Given the description of an element on the screen output the (x, y) to click on. 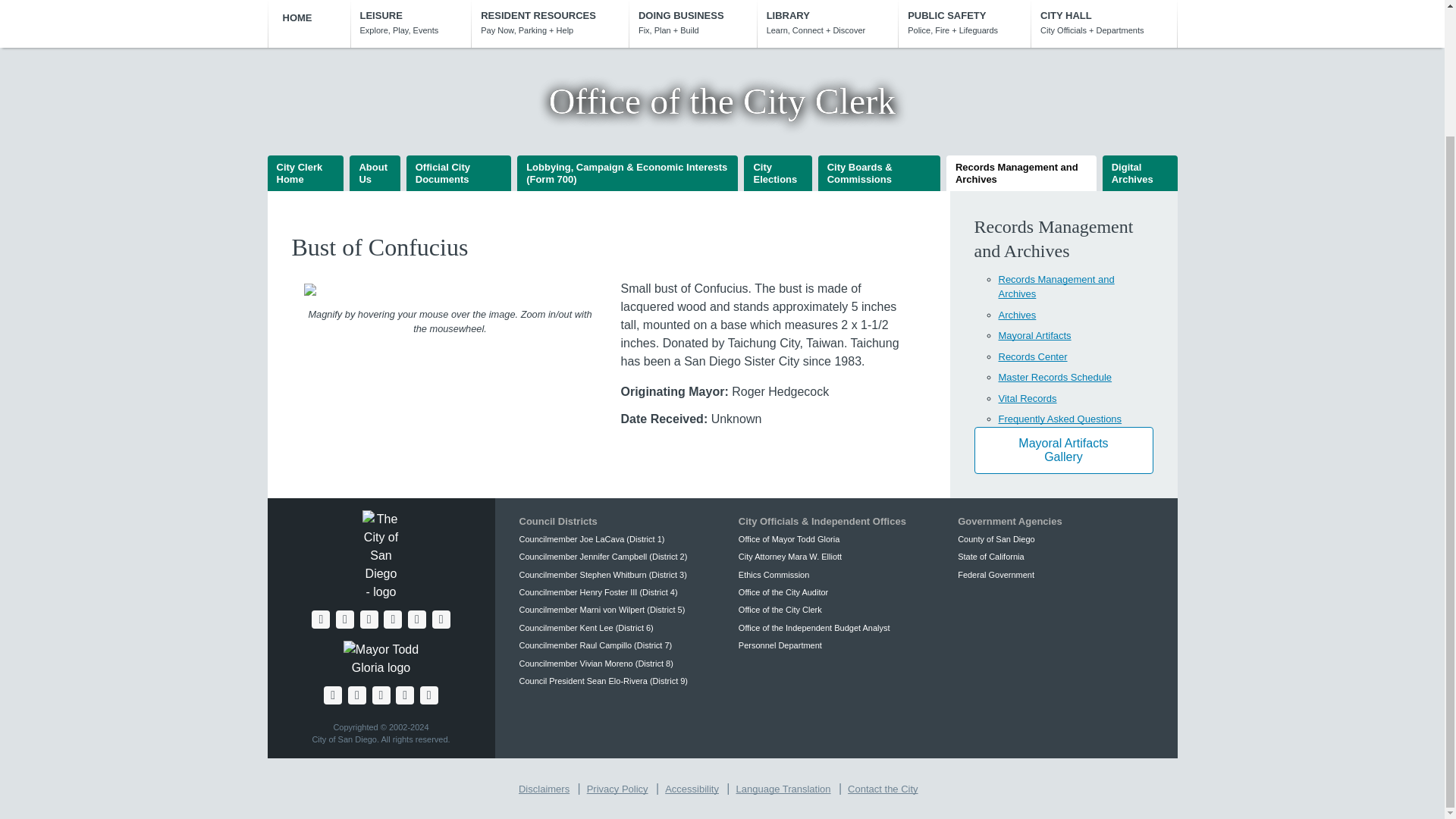
HOME (307, 19)
Facebook (320, 619)
Explore, Play, Events (410, 23)
Twitter (344, 619)
LEISURE (410, 23)
RESIDENT RESOURCES (549, 23)
YouTube (368, 619)
